Given the description of an element on the screen output the (x, y) to click on. 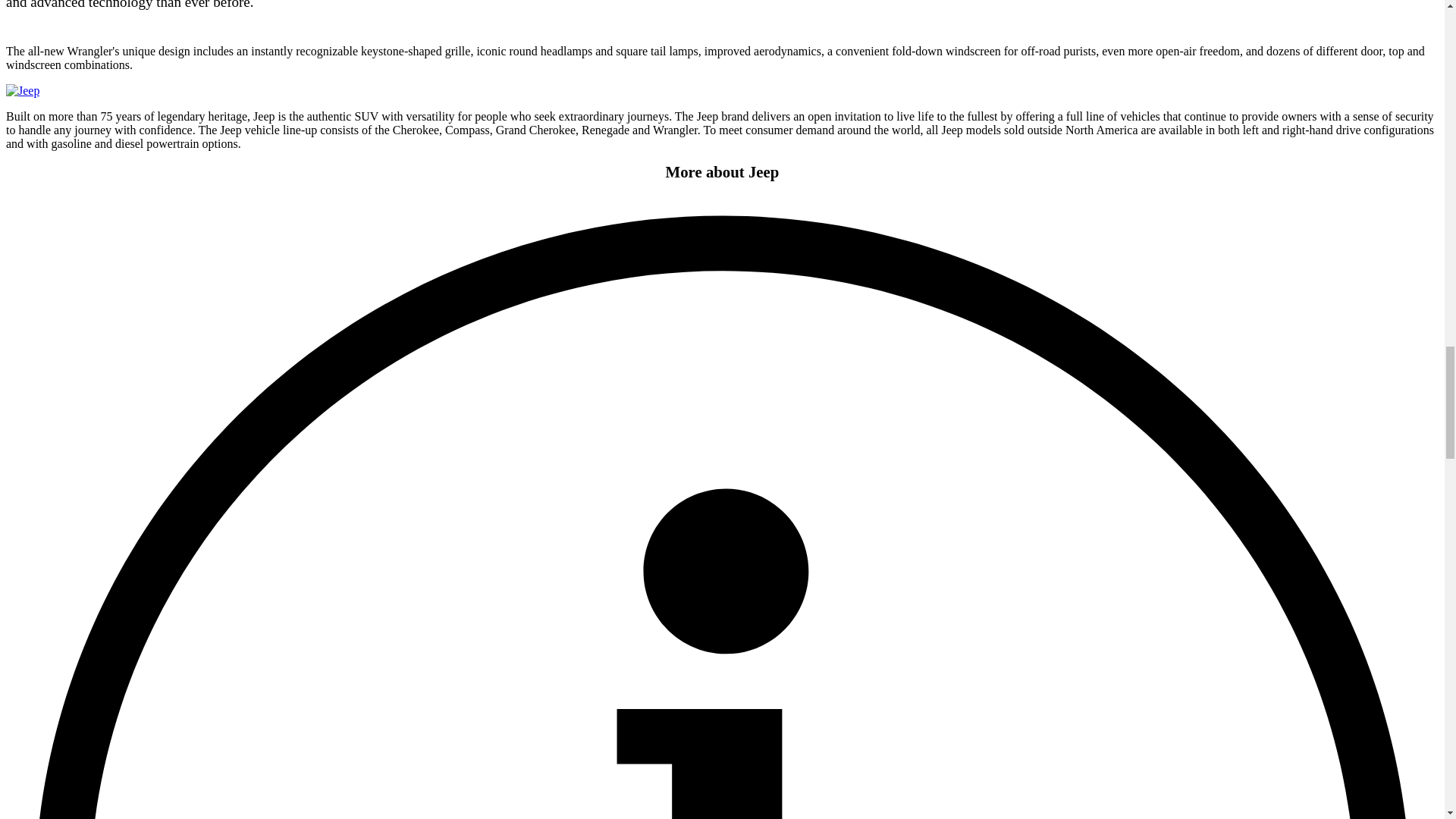
Click for slideshow (22, 90)
